Given the description of an element on the screen output the (x, y) to click on. 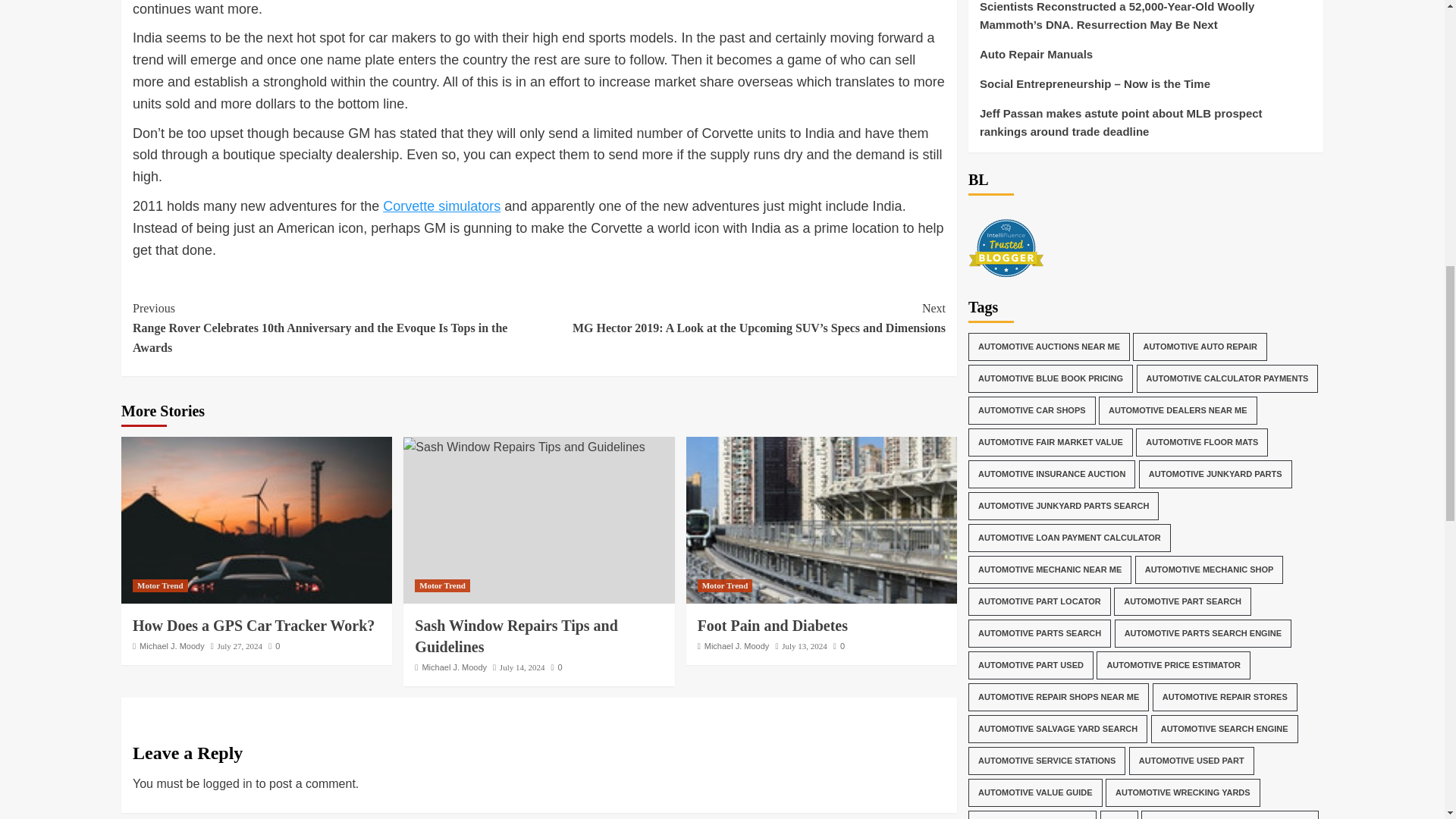
Motor Trend (159, 585)
Michael J. Moody (172, 645)
Corvette simulators (441, 206)
0 (273, 645)
Sash Window Repairs Tips and Guidelines (515, 636)
Sash Window Repairs Tips and Guidelines (524, 447)
Motor Trend (724, 585)
Foot Pain and Diabetes (820, 519)
Michael J. Moody (454, 666)
July 14, 2024 (521, 666)
Foot Pain and Diabetes (772, 625)
Motor Trend (442, 585)
0 (556, 666)
How Does a GPS Car Tracker Work? (255, 519)
